Given the description of an element on the screen output the (x, y) to click on. 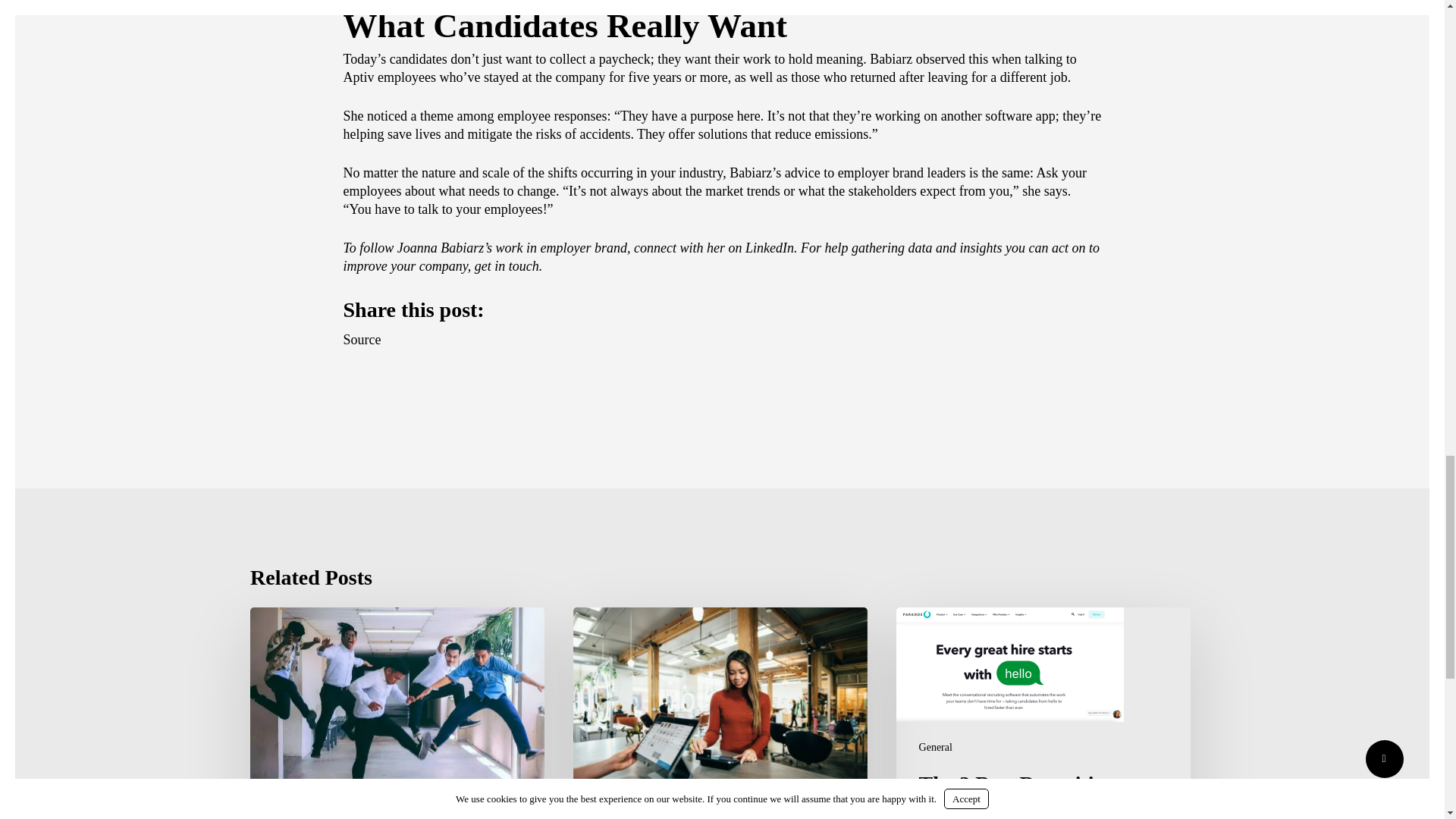
they want their work to hold meaning (760, 58)
General (935, 747)
Source (361, 339)
Evolving the Workplace Through Rebellious Trends (397, 713)
get in touch (506, 265)
The 3 Best Recruiting Chatbots in 2023 (1043, 713)
connect with her on LinkedIn (713, 247)
